Given the description of an element on the screen output the (x, y) to click on. 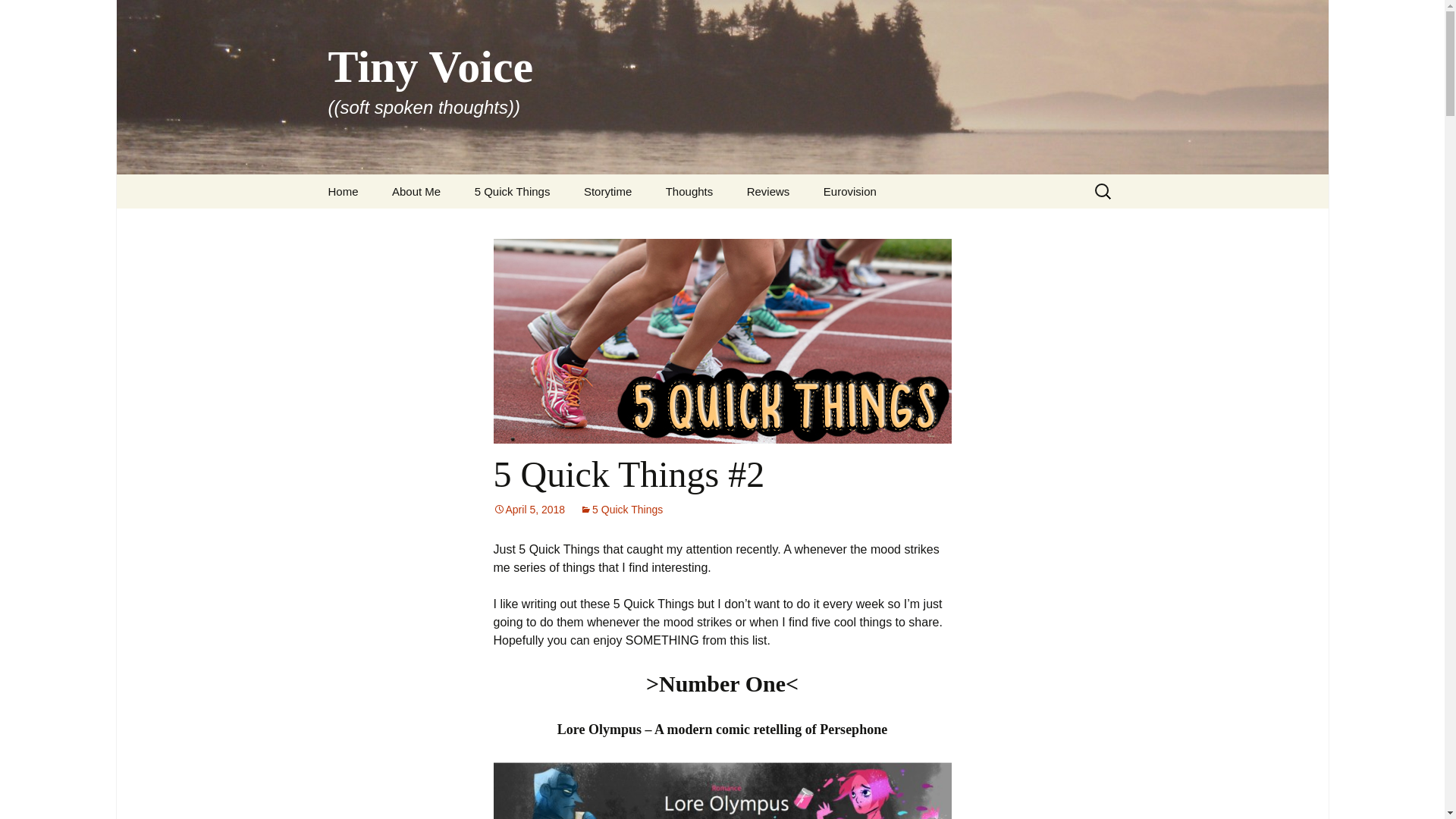
Reviews (768, 191)
Search (18, 15)
Storytime (607, 191)
Eurovision 2017 (883, 225)
About Me (416, 191)
5 Quick Things (620, 509)
5 Quick Things (513, 191)
Home (342, 191)
April 5, 2018 (528, 509)
